Given the description of an element on the screen output the (x, y) to click on. 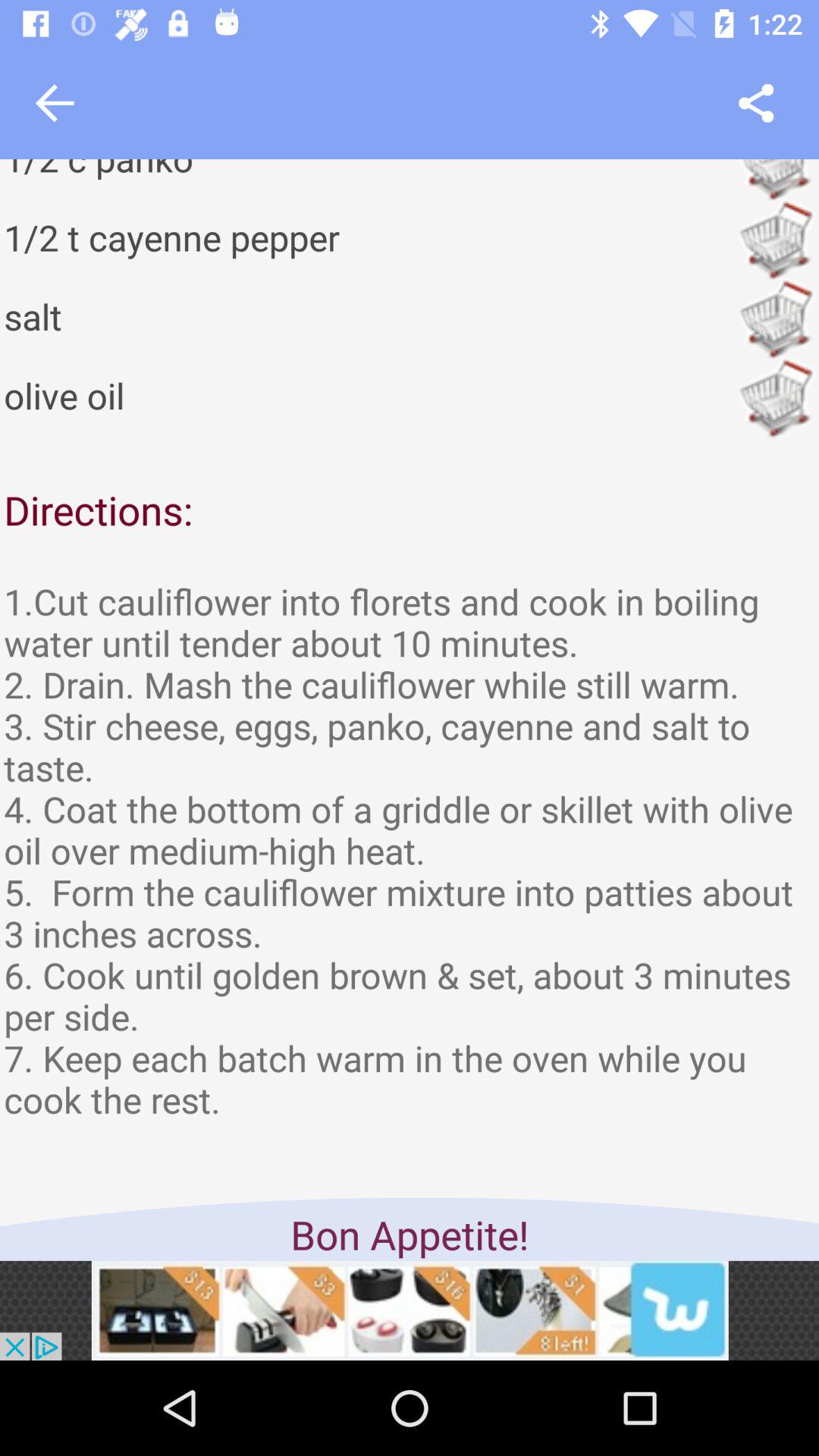
go back (54, 103)
